Given the description of an element on the screen output the (x, y) to click on. 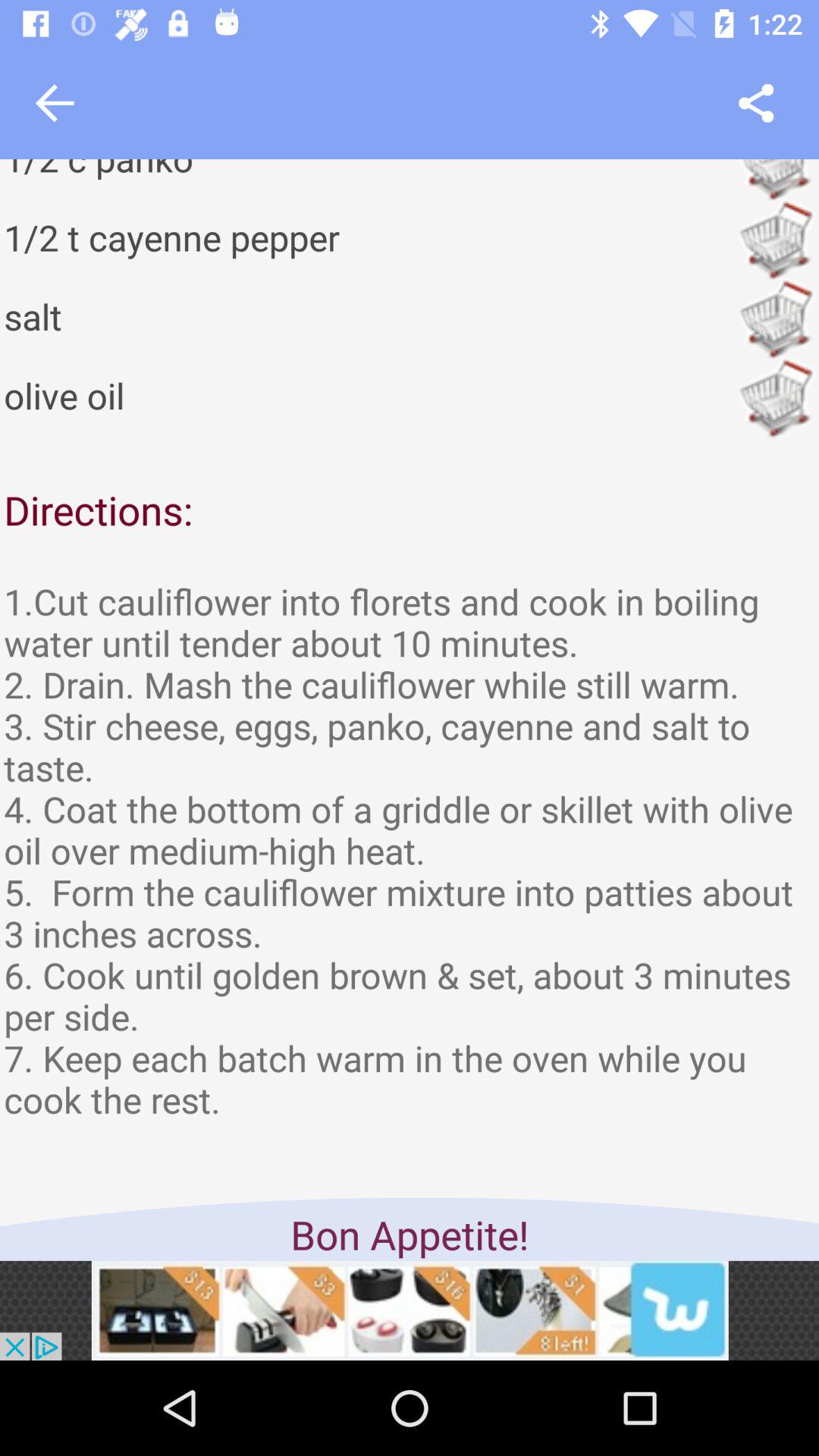
go back (54, 103)
